Given the description of an element on the screen output the (x, y) to click on. 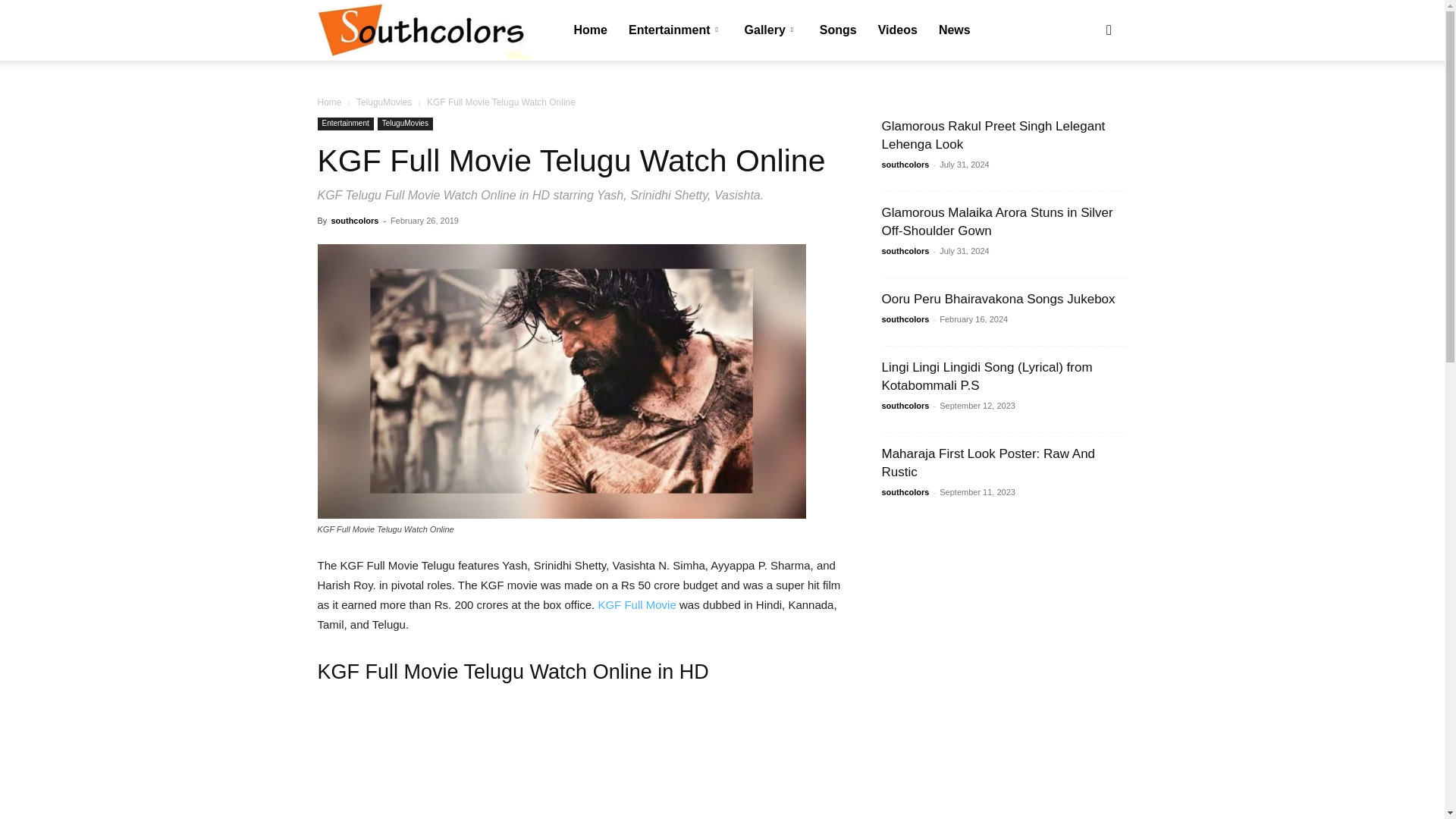
Search (1085, 102)
KGF Full Movie online (637, 604)
TeluguMovies (404, 123)
KGF Full Movie Telugu Watch Online (561, 381)
Home (328, 102)
Songs (838, 30)
southcolors (424, 30)
View all posts in TeluguMovies (384, 102)
YouTube video player (580, 760)
Videos (897, 30)
